Given the description of an element on the screen output the (x, y) to click on. 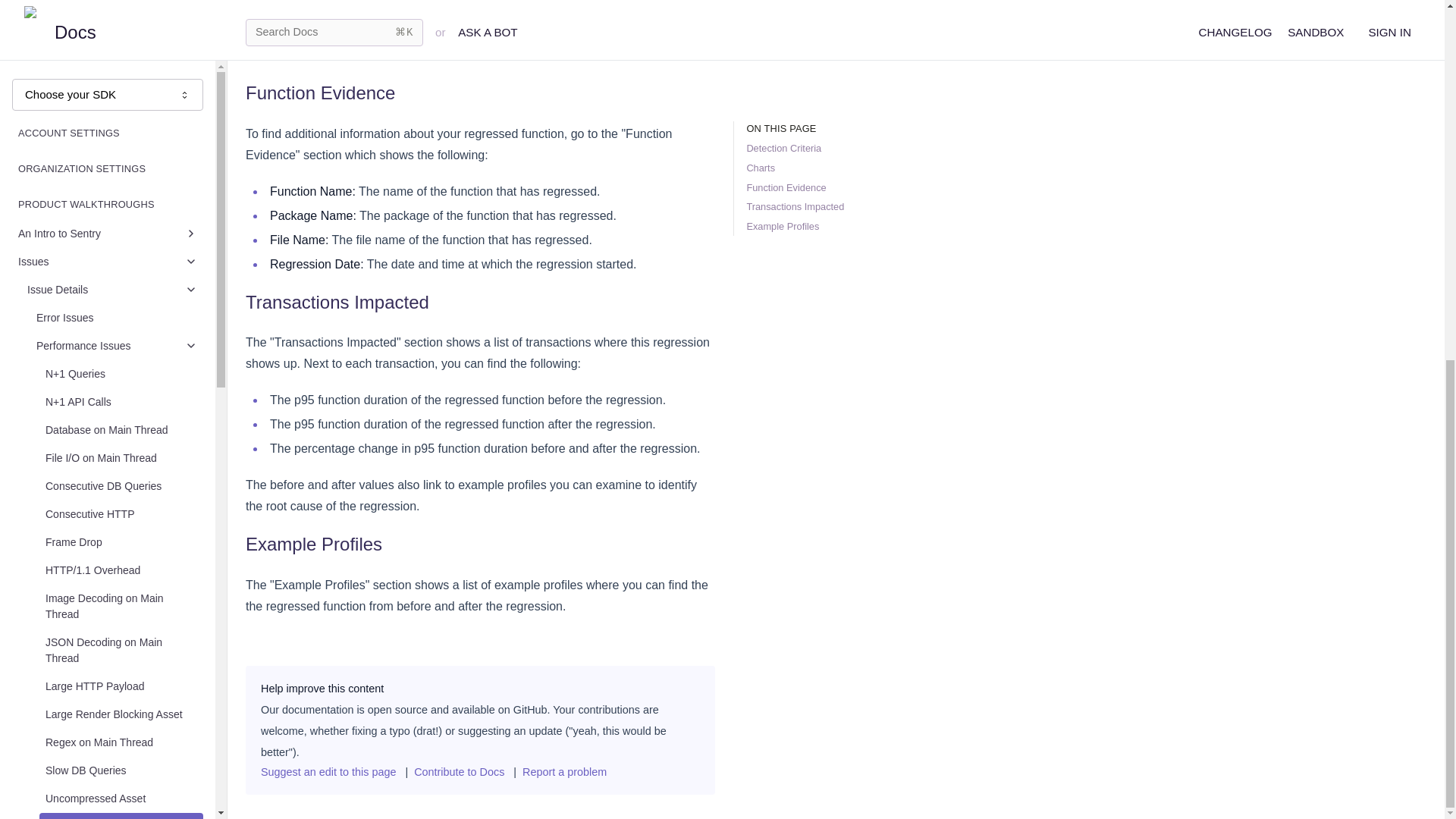
Using Breadcrumbs (116, 272)
Regex on Main Thread (121, 103)
Ownership Rules (112, 412)
Uncompressed Asset (121, 160)
Suspect Commits (112, 384)
Function Regression (121, 188)
Rage Click Issues (116, 244)
AI Suggested Solution (116, 300)
Large Render Blocking Asset (121, 76)
Issue Priority (112, 357)
JSON Decoding on Main Thread (121, 17)
Slow DB Queries (121, 131)
Large HTTP Payload (121, 48)
Endpoint Regression (121, 216)
Issue Status (112, 328)
